Given the description of an element on the screen output the (x, y) to click on. 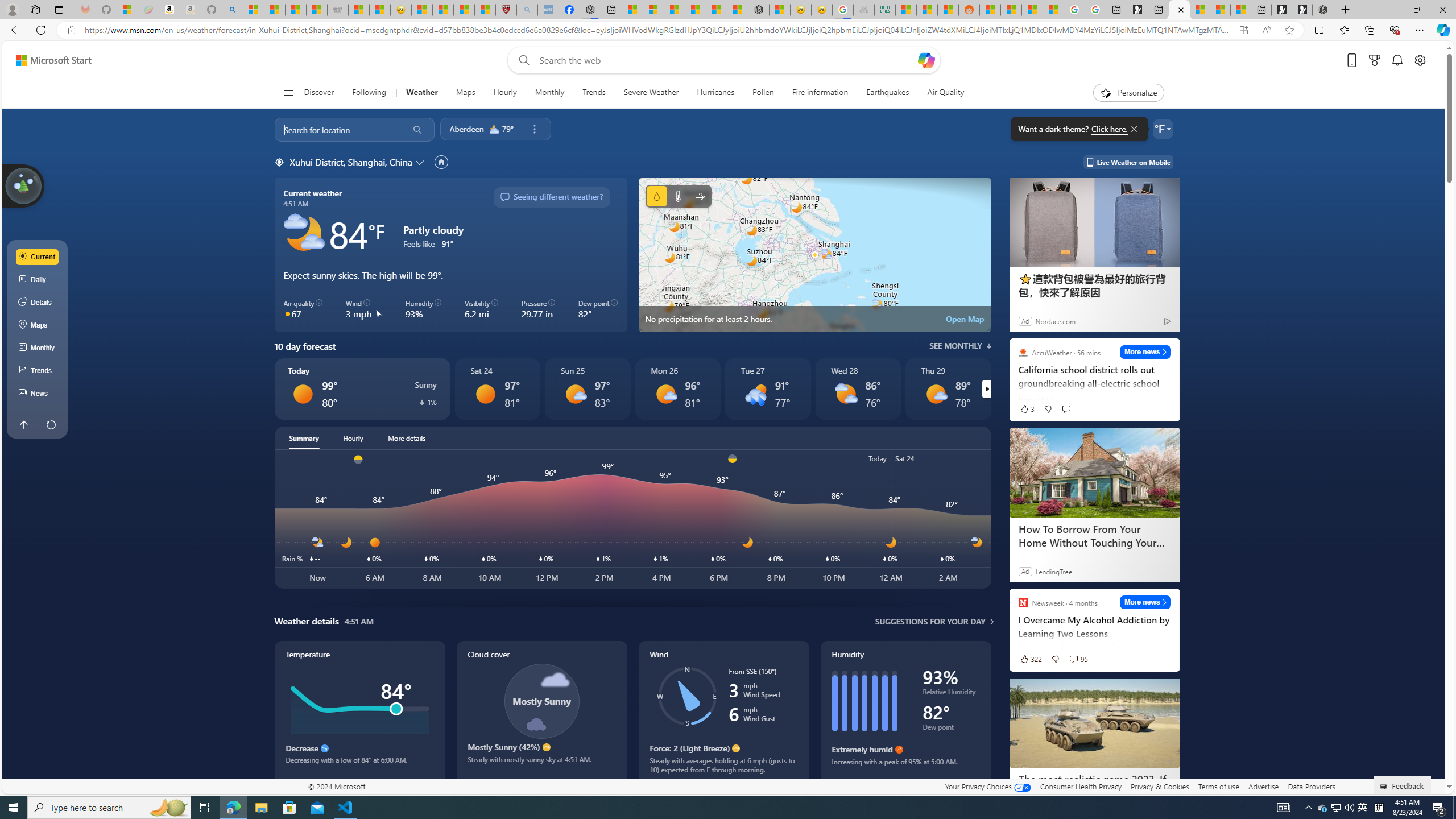
Air quality 67 (303, 309)
Air Quality (945, 92)
list of asthma inhalers uk - Search - Sleeping (527, 9)
Mostly sunny (935, 393)
Precipitation (656, 195)
Hourly (504, 92)
Fire information (820, 92)
Class: miniMapRadarSVGView-DS-EntryPoint1-1 (814, 254)
